Given the description of an element on the screen output the (x, y) to click on. 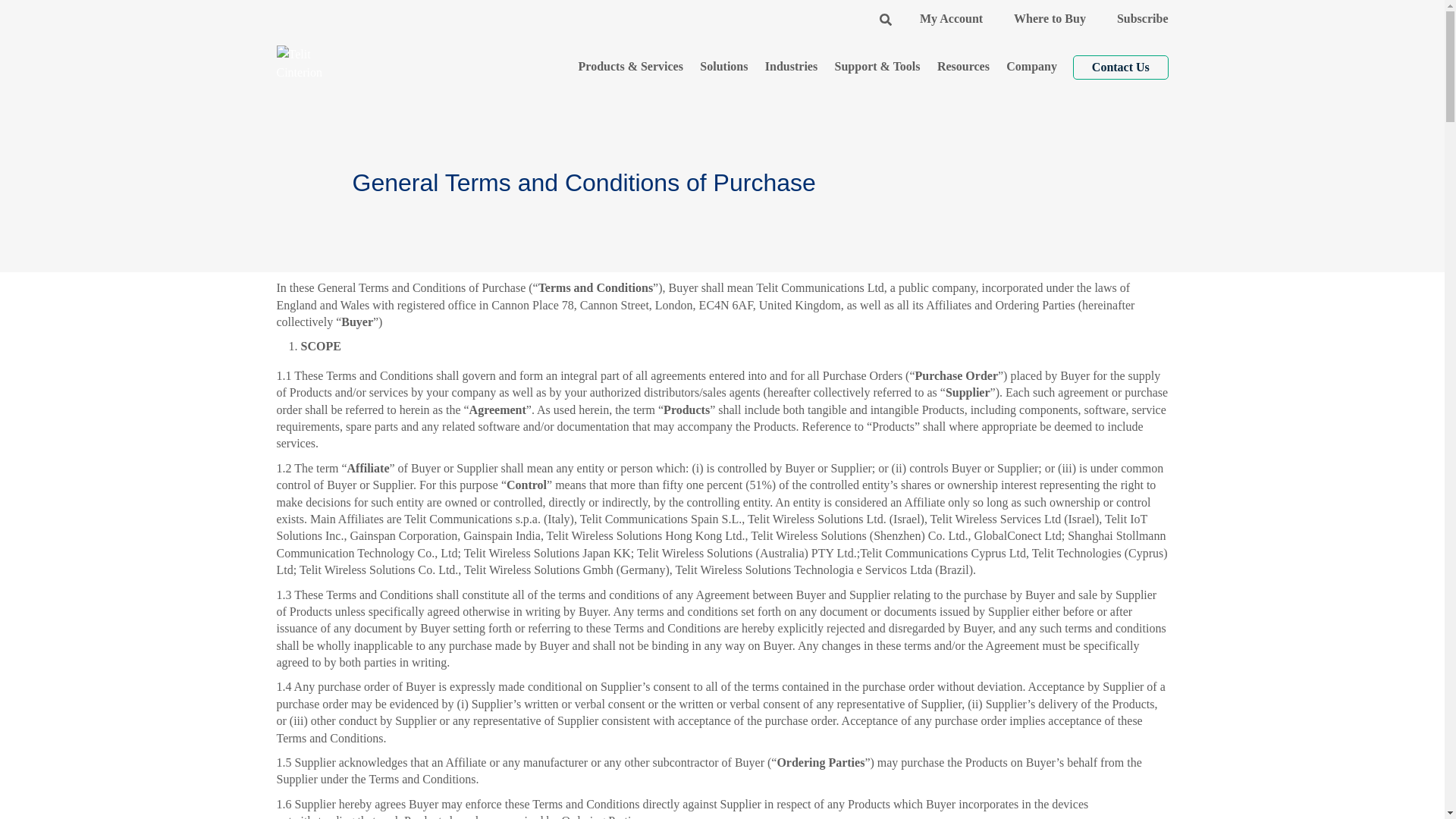
Where to Buy (1049, 18)
My Account (951, 18)
Solutions (724, 67)
Telit Cinterion (315, 65)
Search (885, 18)
Subscribe (1142, 18)
